Given the description of an element on the screen output the (x, y) to click on. 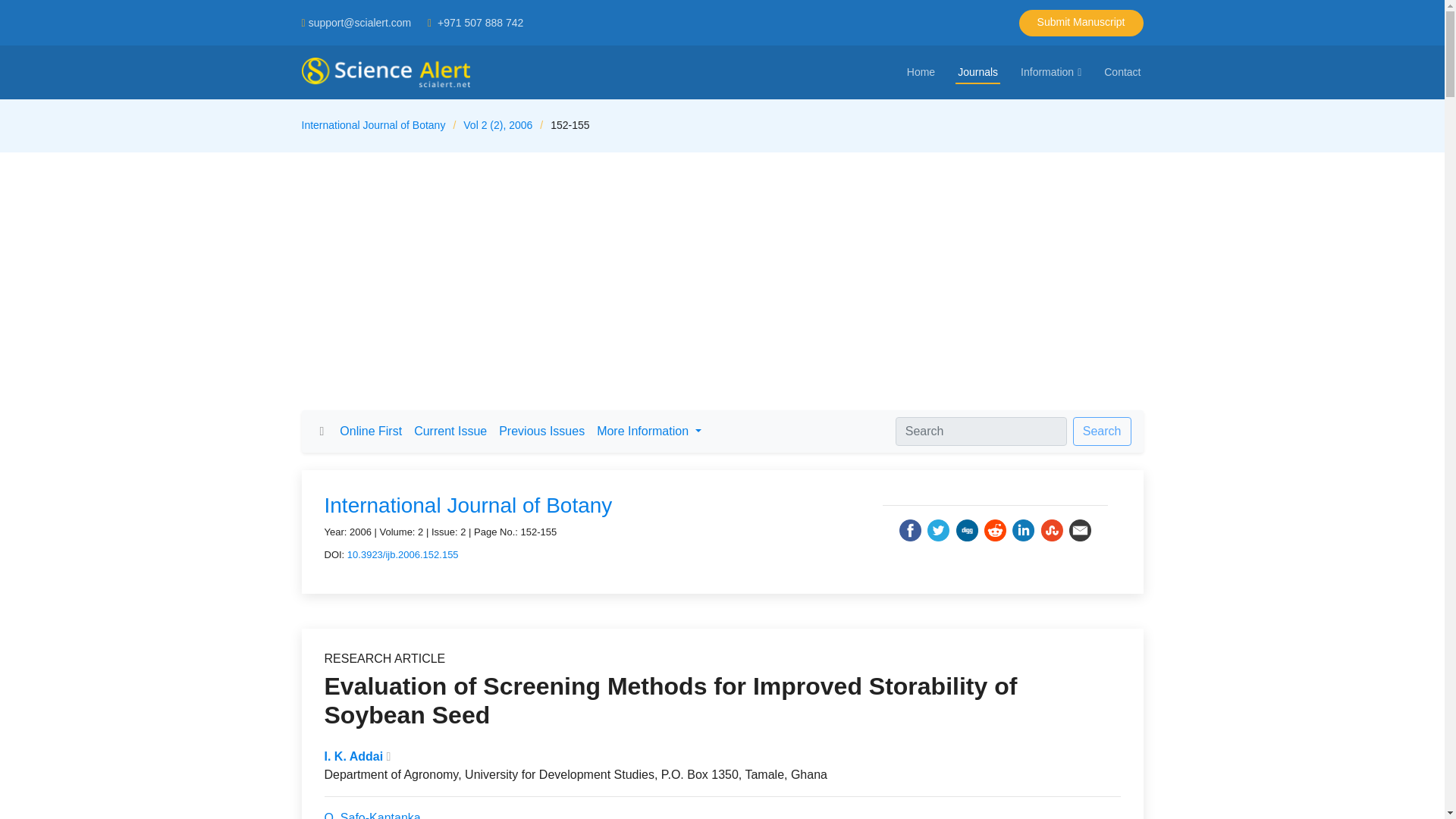
International Journal of Botany (468, 504)
Current Issue (450, 431)
Previous Issues (542, 431)
More Information (648, 431)
Information (1050, 72)
Click to find out more papers by I. K. Addai (354, 756)
Submit Manuscript (1080, 22)
Search (1102, 430)
I. K. Addai (354, 756)
Journals (977, 72)
Submit Manuscript (1080, 22)
Home (920, 72)
Contact (1122, 72)
Online First (370, 431)
